Given the description of an element on the screen output the (x, y) to click on. 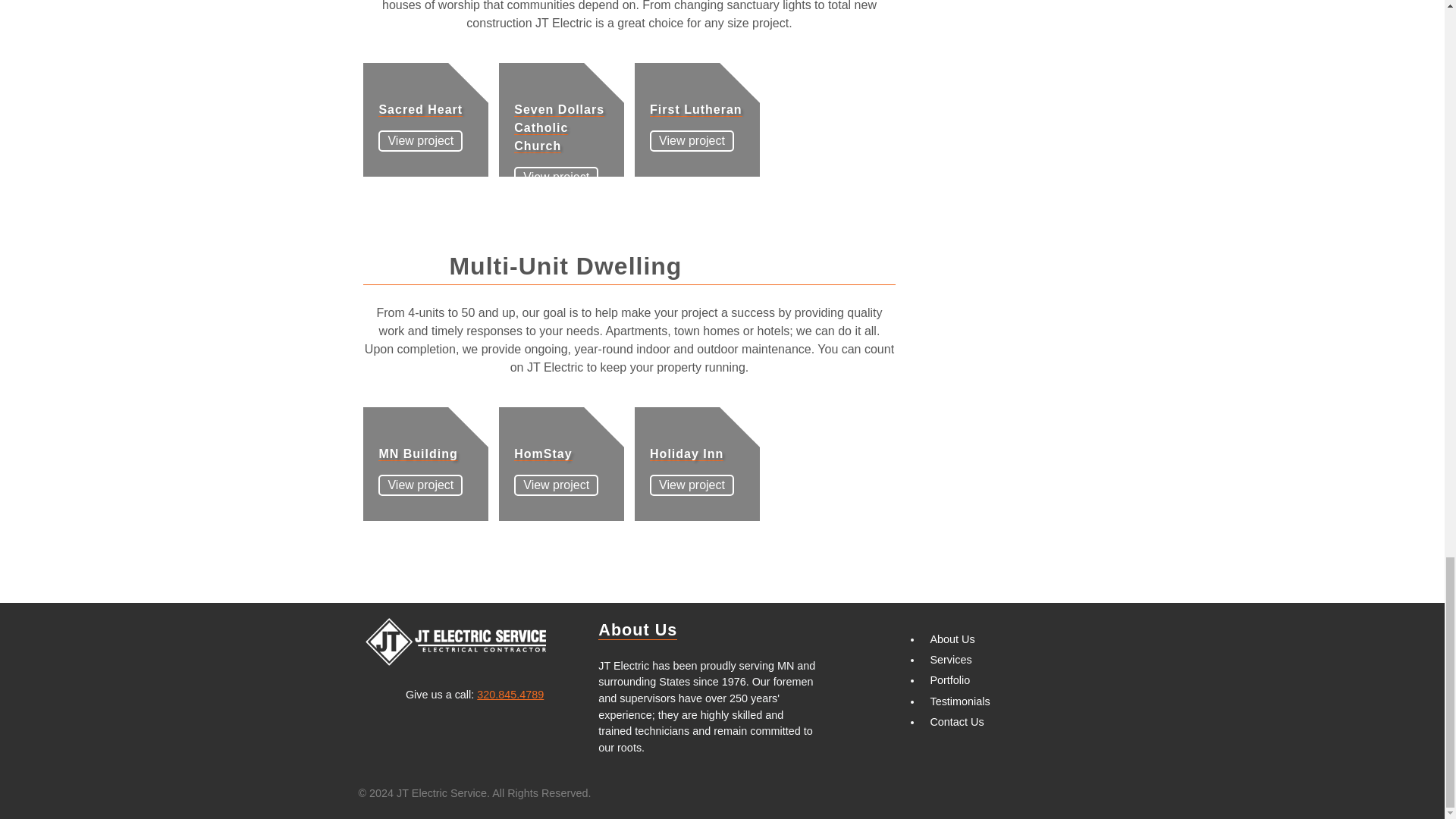
View project (555, 177)
View project (420, 140)
